Given the description of an element on the screen output the (x, y) to click on. 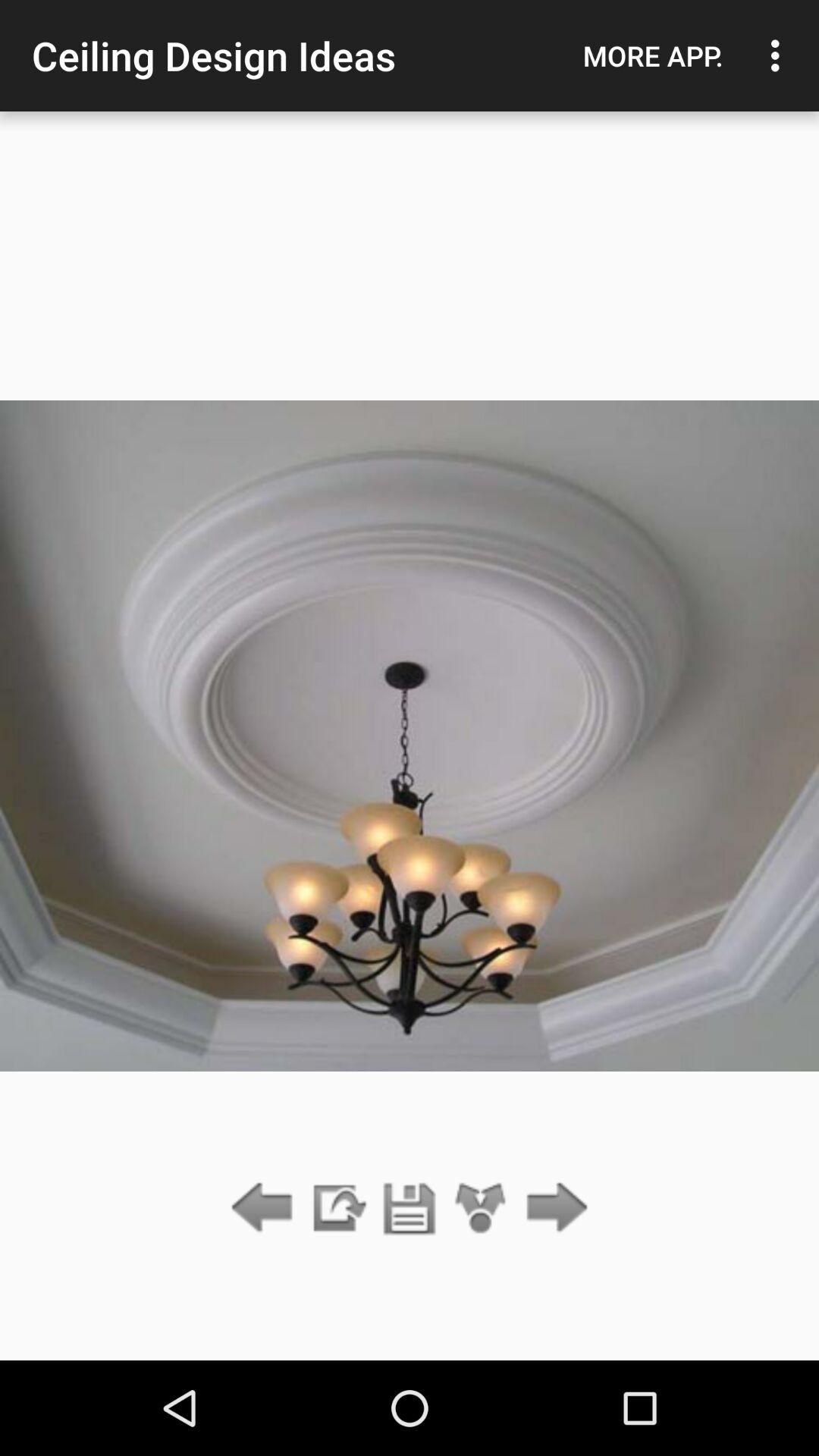
upload the image (337, 1208)
